Given the description of an element on the screen output the (x, y) to click on. 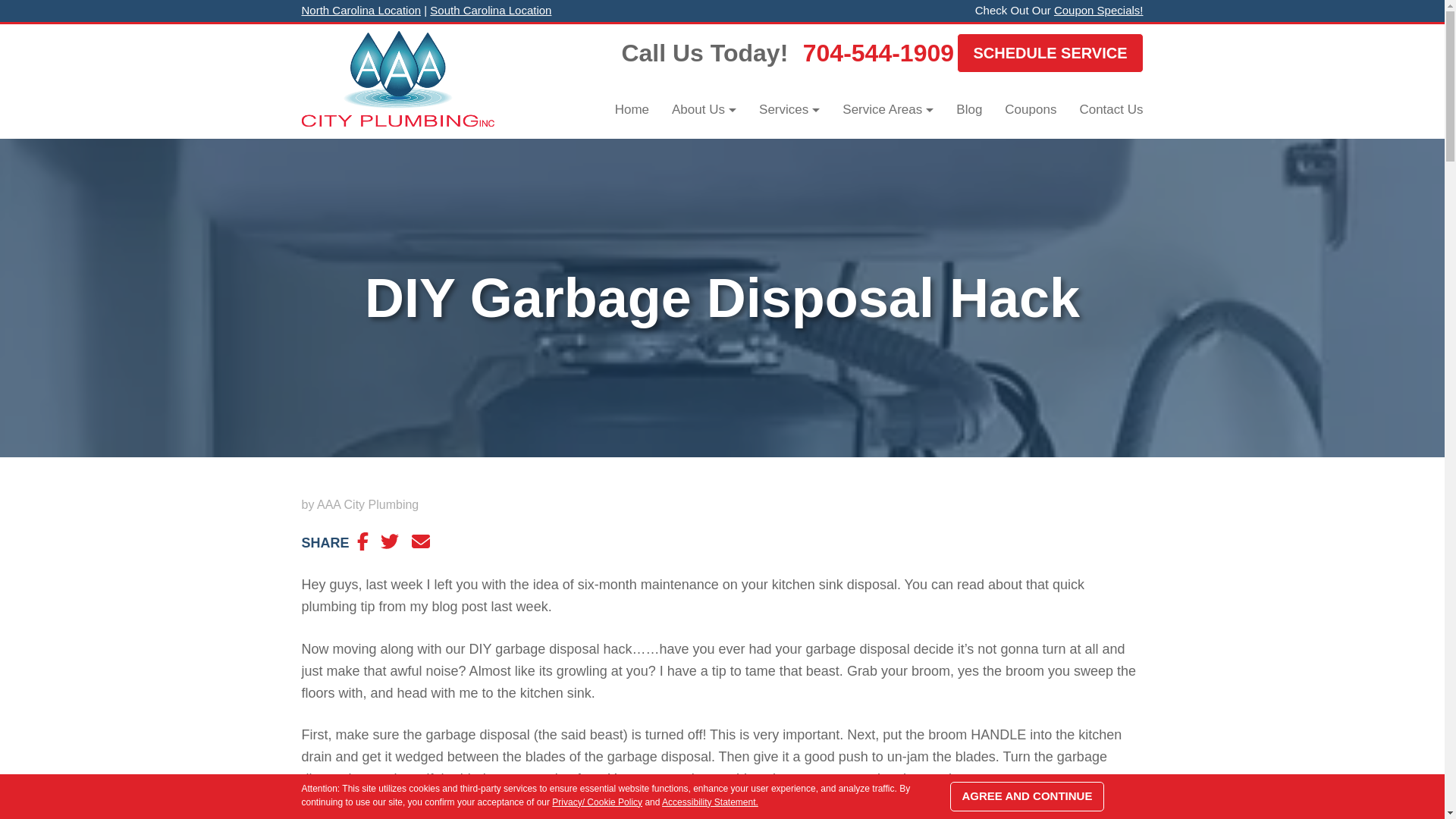
Coupon Specials! (1098, 10)
SCHEDULE SERVICE (1049, 52)
704-544-1909 (878, 53)
South Carolina Location (490, 10)
North Carolina Location (361, 10)
Service Areas (887, 109)
About Us (704, 109)
Home (632, 109)
Click to Call (878, 53)
Services (789, 109)
